Given the description of an element on the screen output the (x, y) to click on. 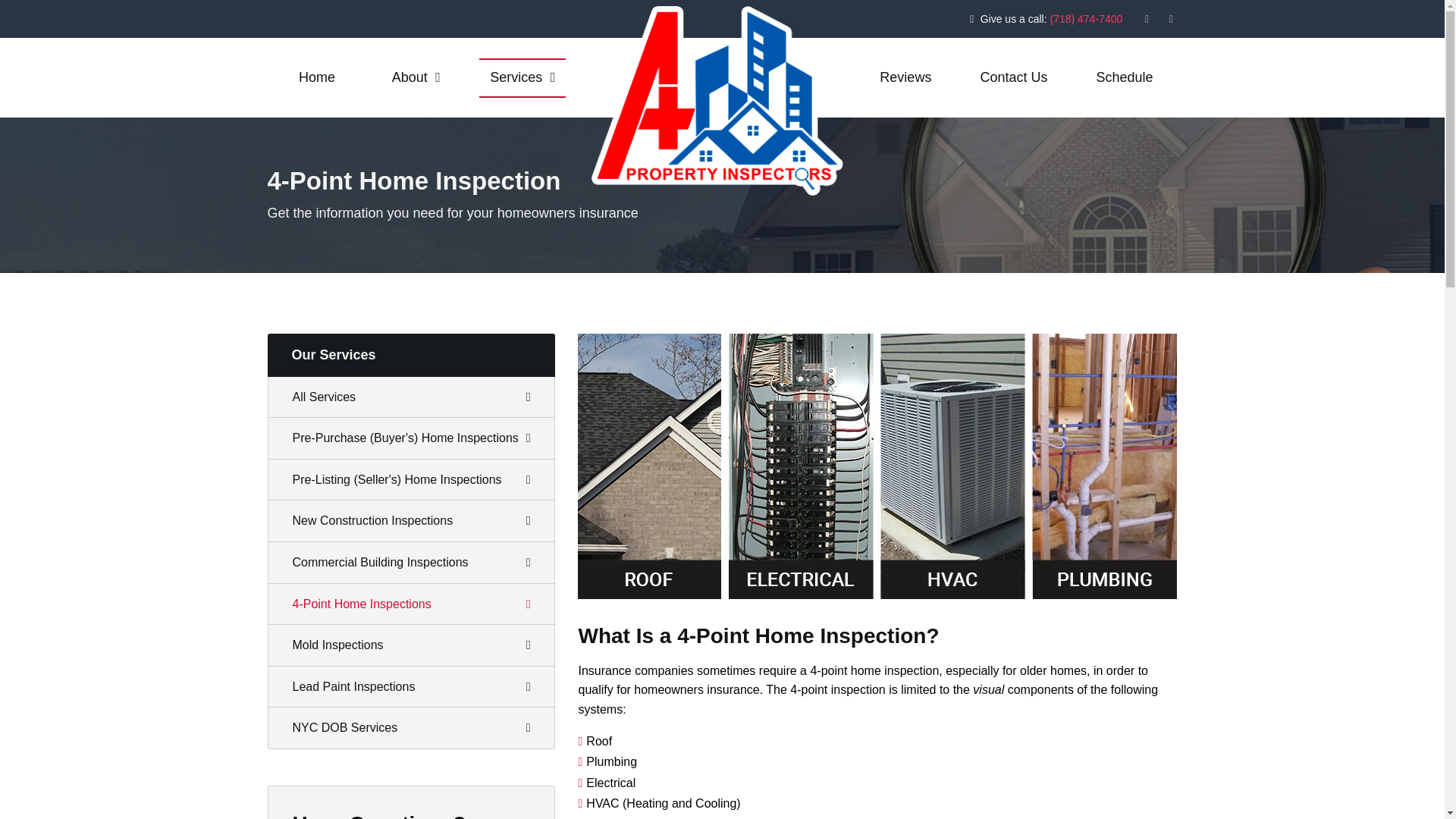
Schedule (1123, 77)
Reviews (905, 77)
Like us on Facebook. (1147, 19)
Contact Us (1013, 77)
Connect with us on LinkedIn. (1171, 19)
About (415, 77)
Services (522, 77)
Home (316, 77)
